Given the description of an element on the screen output the (x, y) to click on. 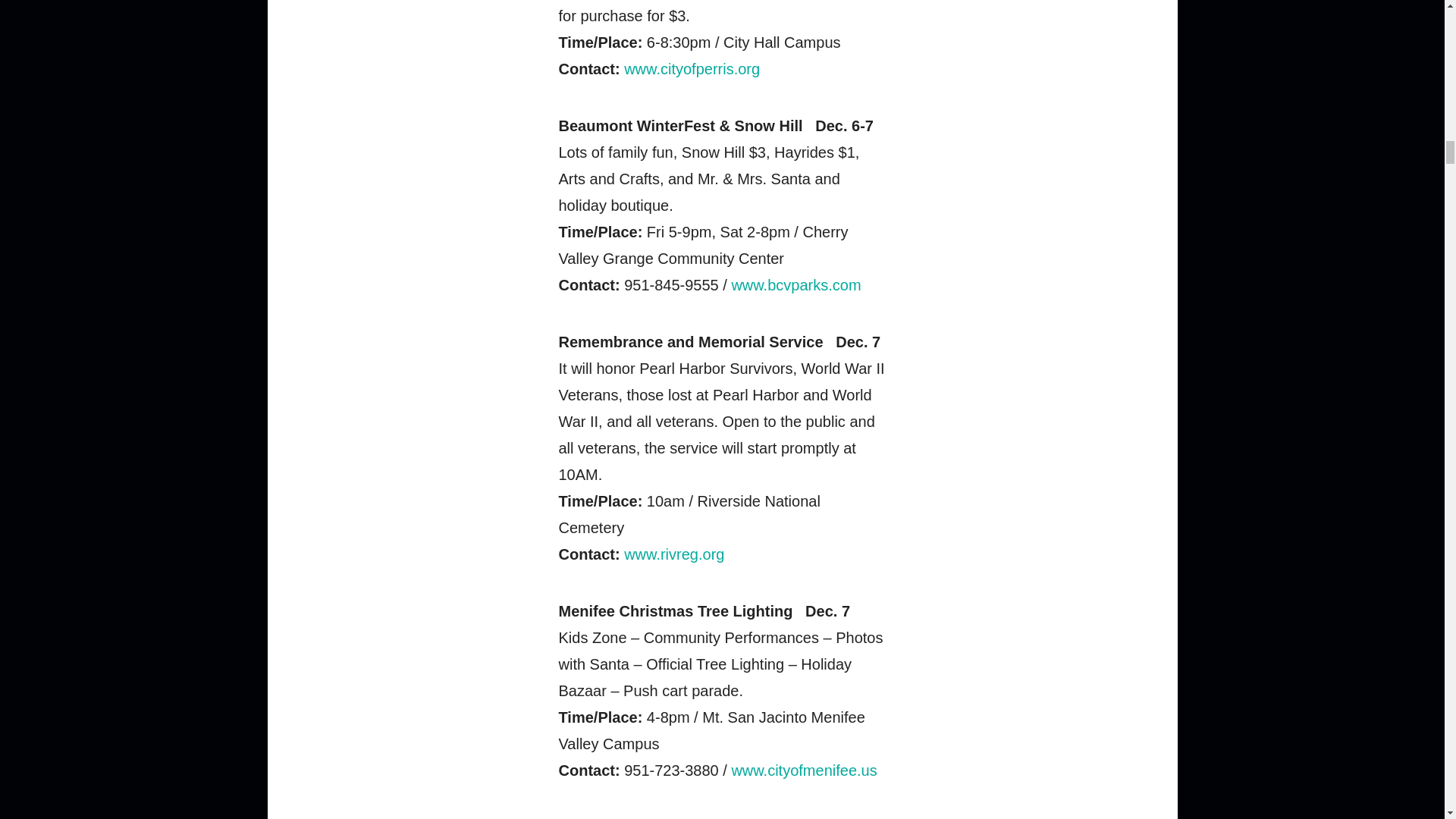
www.cityofperris.org (692, 68)
www.rivreg.org (673, 554)
www.bcvparks.com (795, 284)
www.cityofmenifee.us (803, 770)
